Given the description of an element on the screen output the (x, y) to click on. 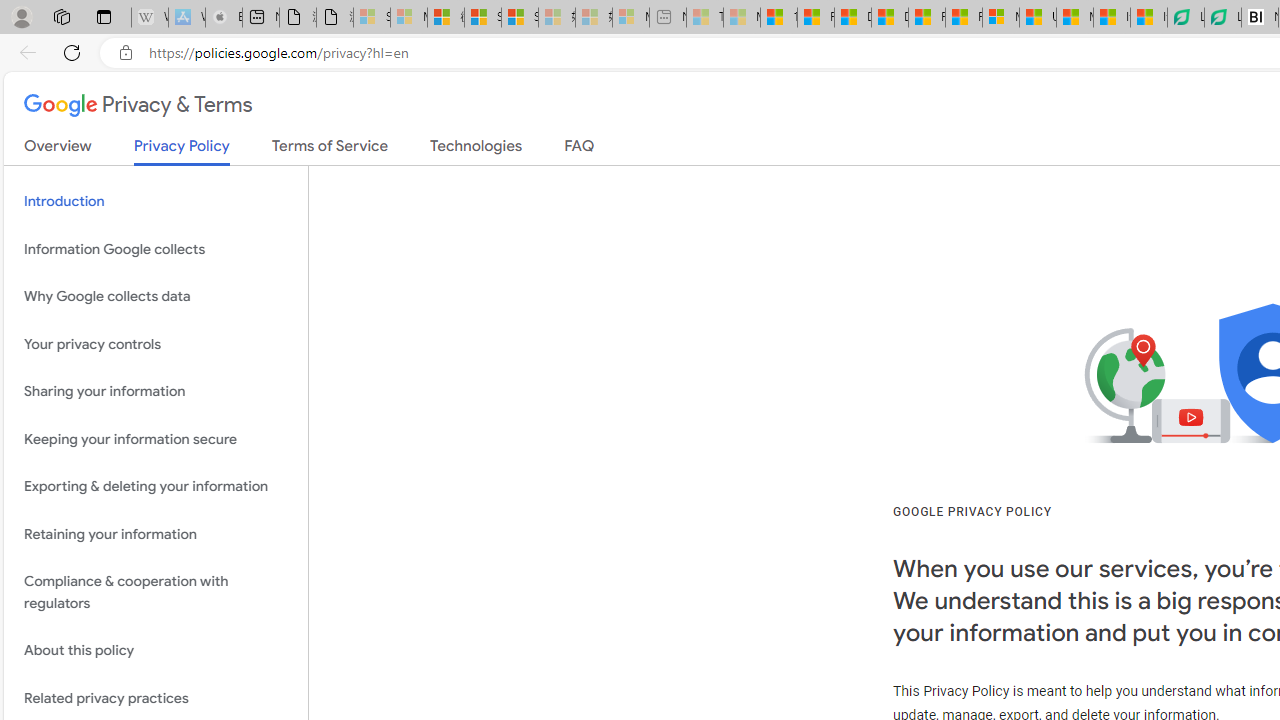
Sharing your information (155, 391)
Foo BAR | Trusted Community Engagement and Contributions (963, 17)
Keeping your information secure (155, 438)
Sharing your information (155, 391)
Drinking tea every day is proven to delay biological aging (889, 17)
US Heat Deaths Soared To Record High Last Year (1037, 17)
Retaining your information (155, 533)
Keeping your information secure (155, 438)
Information Google collects (155, 249)
Privacy & Terms (138, 106)
About this policy (155, 651)
